Given the description of an element on the screen output the (x, y) to click on. 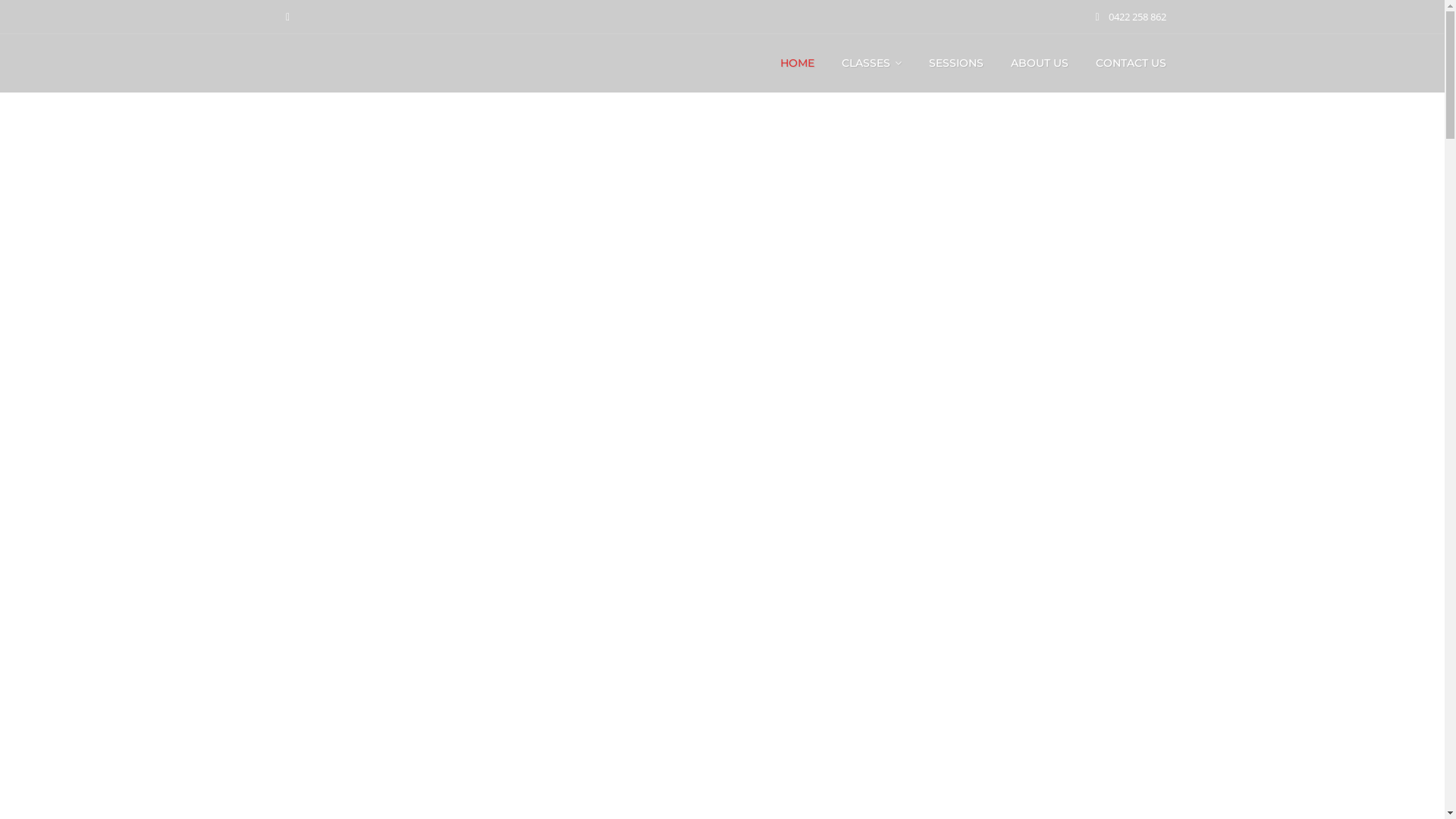
SESSIONS Element type: text (955, 62)
HOME Element type: text (796, 62)
CLASSES Element type: text (871, 62)
ABOUT US Element type: text (1038, 62)
CONTACT US Element type: text (1130, 62)
